Given the description of an element on the screen output the (x, y) to click on. 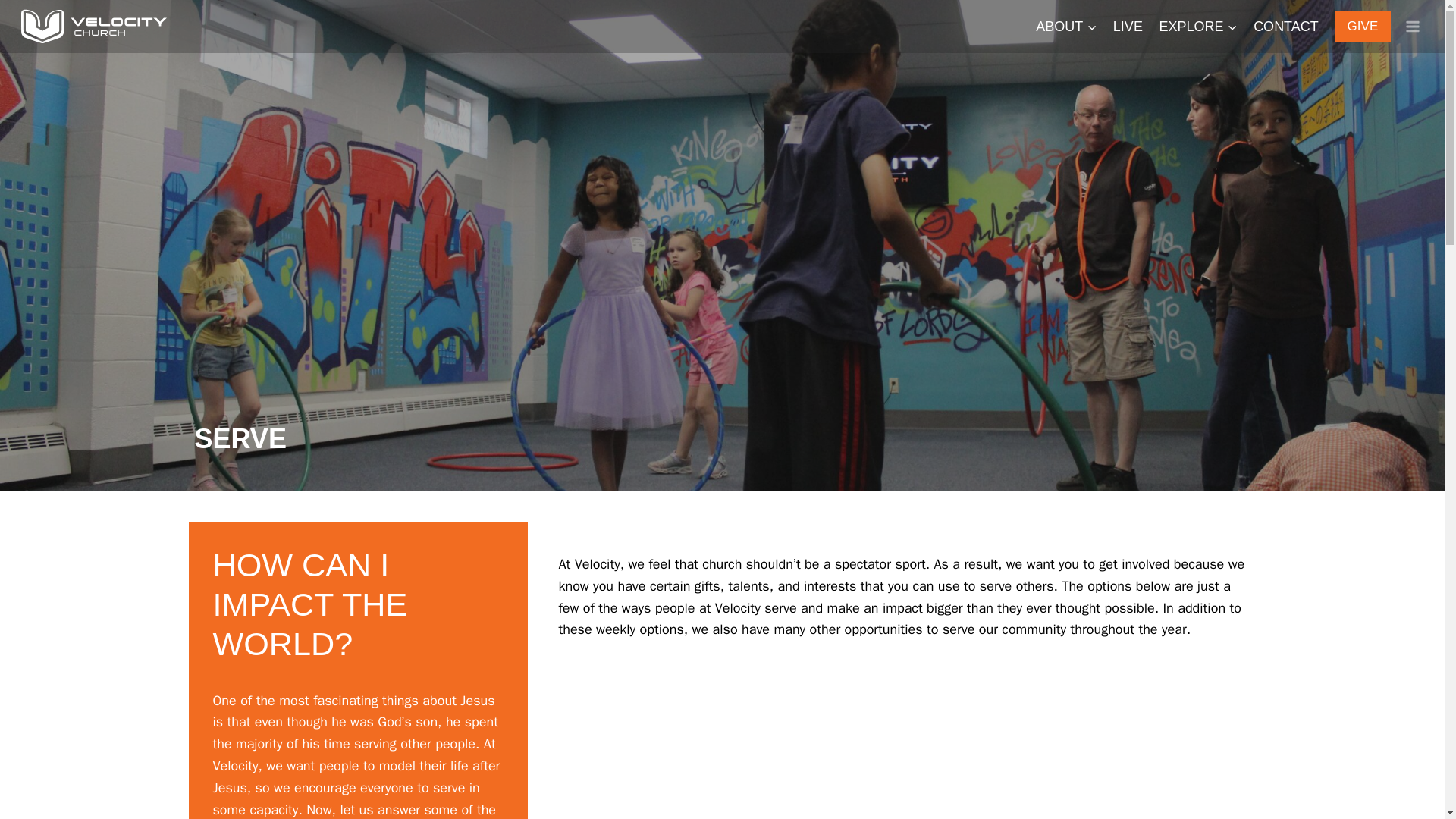
LIVE (1128, 26)
EXPLORE (1198, 26)
GIVE (1363, 26)
ABOUT (1066, 26)
CONTACT (1285, 26)
